Given the description of an element on the screen output the (x, y) to click on. 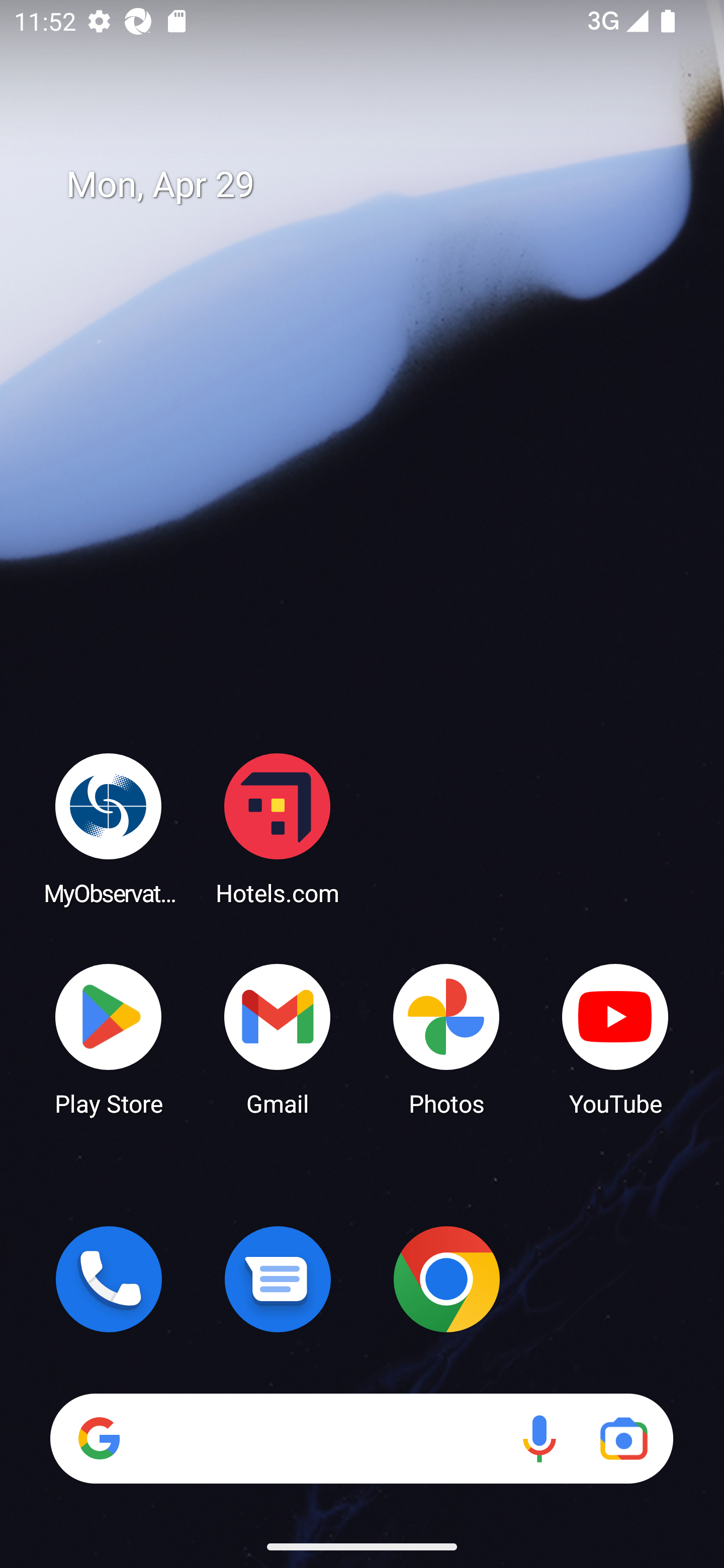
Mon, Apr 29 (375, 184)
MyObservatory (108, 828)
Hotels.com (277, 828)
Play Store (108, 1038)
Gmail (277, 1038)
Photos (445, 1038)
YouTube (615, 1038)
Phone (108, 1279)
Messages (277, 1279)
Chrome (446, 1279)
Search Voice search Google Lens (361, 1438)
Voice search (539, 1438)
Google Lens (623, 1438)
